Given the description of an element on the screen output the (x, y) to click on. 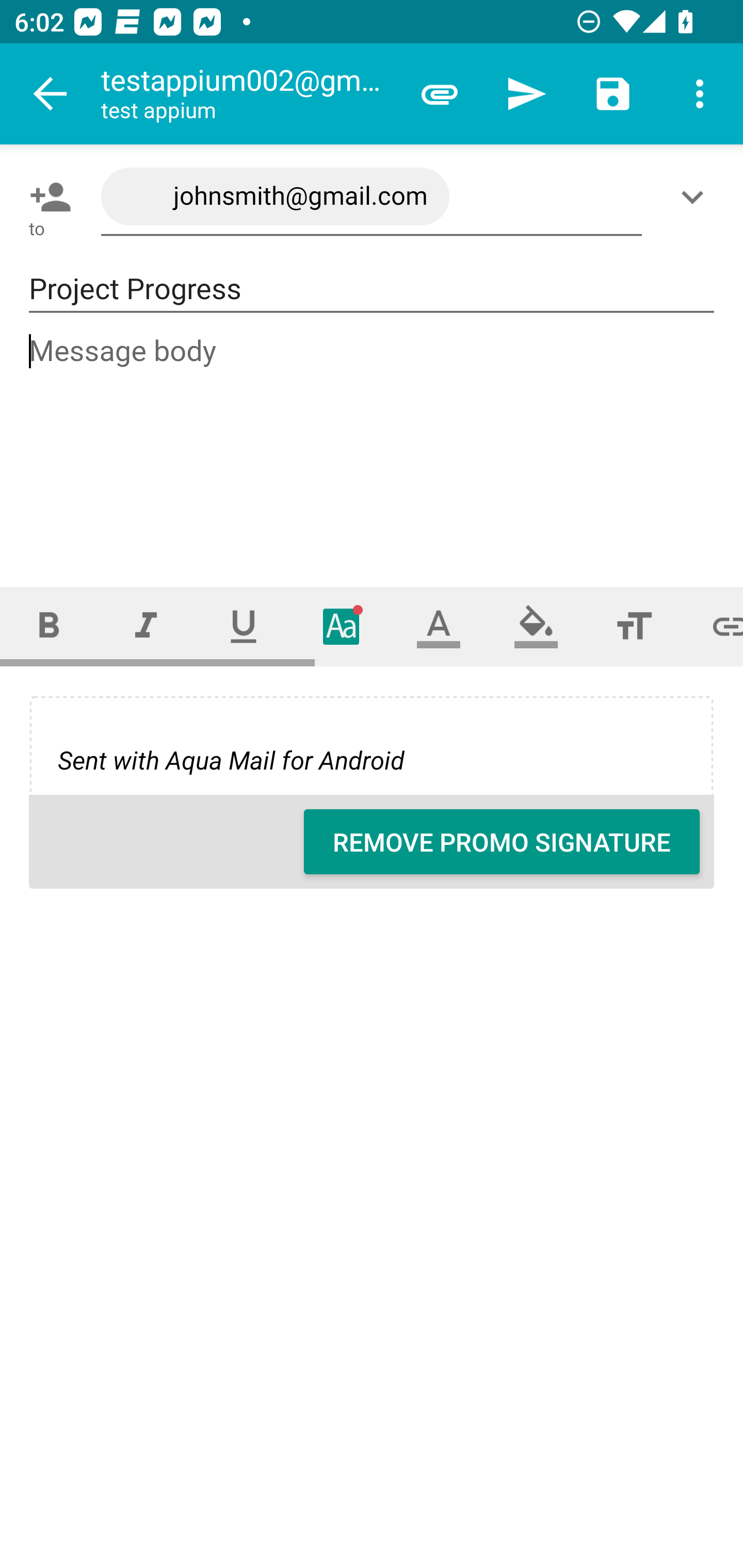
Navigate up (50, 93)
testappium002@gmail.com test appium (248, 93)
Attach (439, 93)
Send (525, 93)
Save (612, 93)
More options (699, 93)
johnsmith@gmail.com,  (371, 197)
Pick contact: To (46, 196)
Show/Add CC/BCC (696, 196)
Project Progress (371, 288)
Message body (372, 442)
Bold (48, 626)
Italic (145, 626)
Underline (243, 626)
Typeface (font) (341, 626)
Text color (438, 626)
Fill color (536, 626)
Font size (633, 626)
REMOVE PROMO SIGNATURE (501, 841)
